Given the description of an element on the screen output the (x, y) to click on. 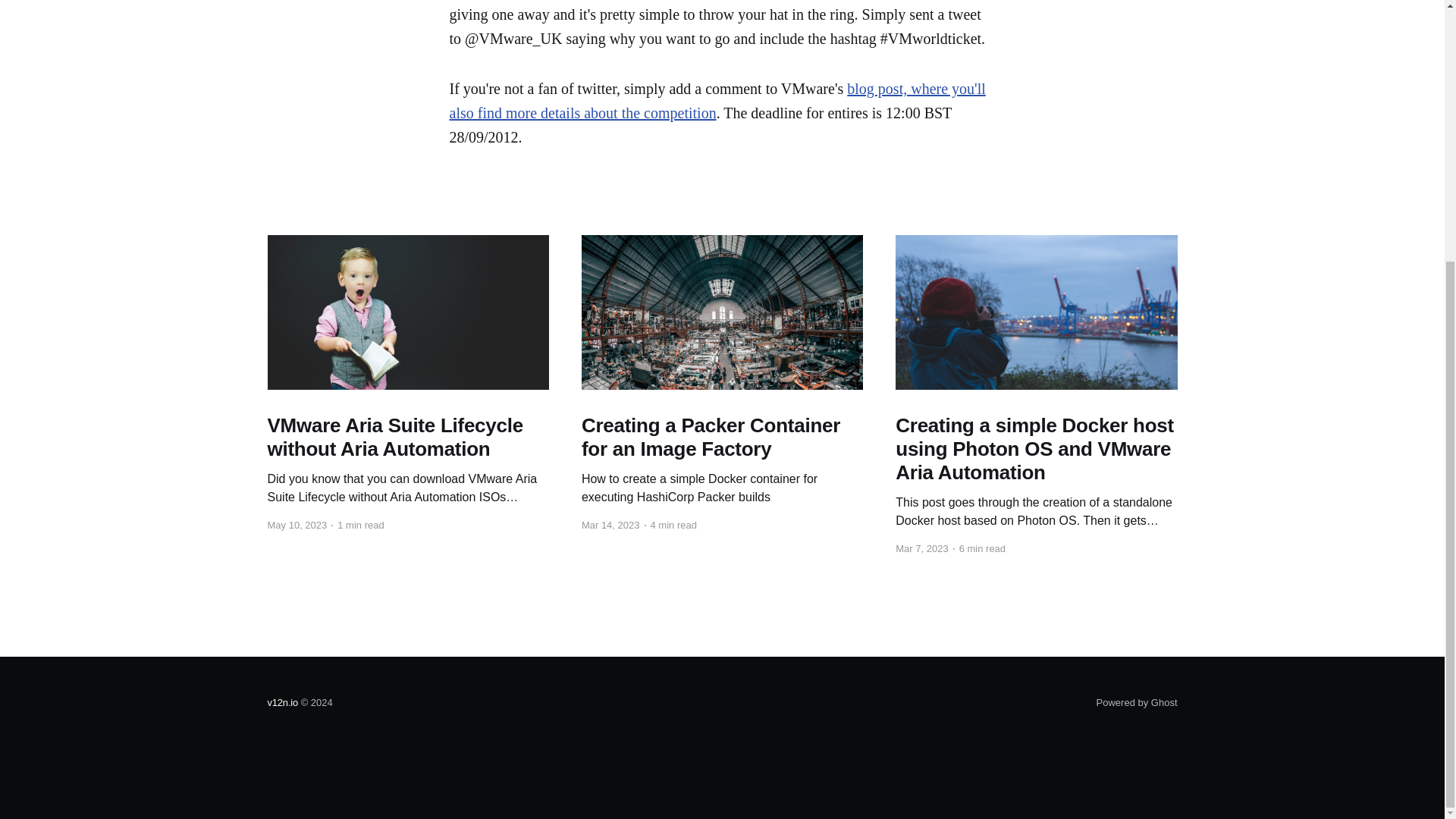
Powered by Ghost (1136, 702)
v12n.io (282, 702)
